Given the description of an element on the screen output the (x, y) to click on. 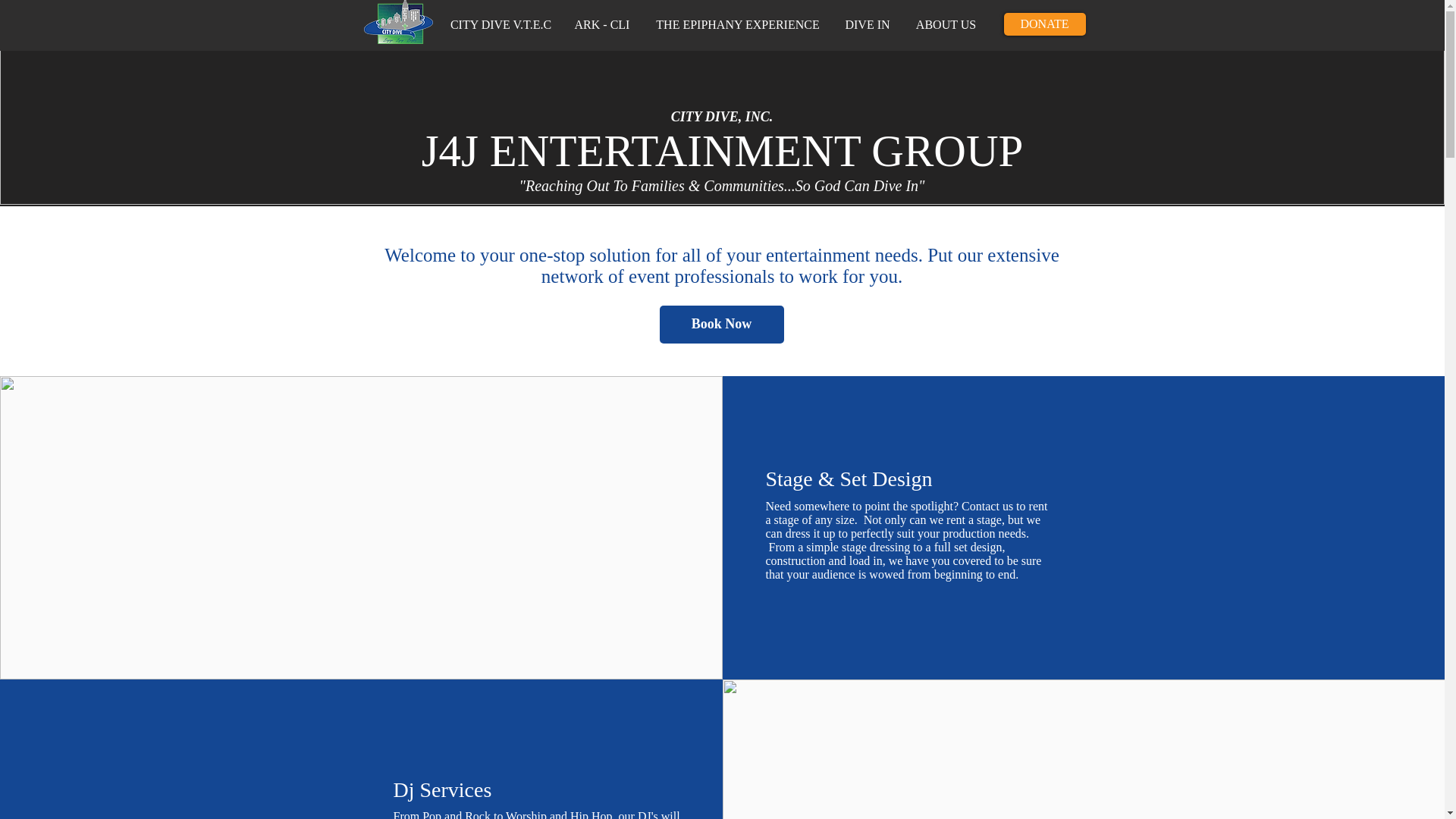
THE EPIPHANY EXPERIENCE (737, 24)
DONATE (1045, 24)
City Dive Logo 083023.png (398, 22)
Book Now (721, 324)
DIVE IN (866, 24)
ABOUT US (946, 24)
ARK - CLI (601, 24)
CITY DIVE V.T.E.C (499, 24)
